Given the description of an element on the screen output the (x, y) to click on. 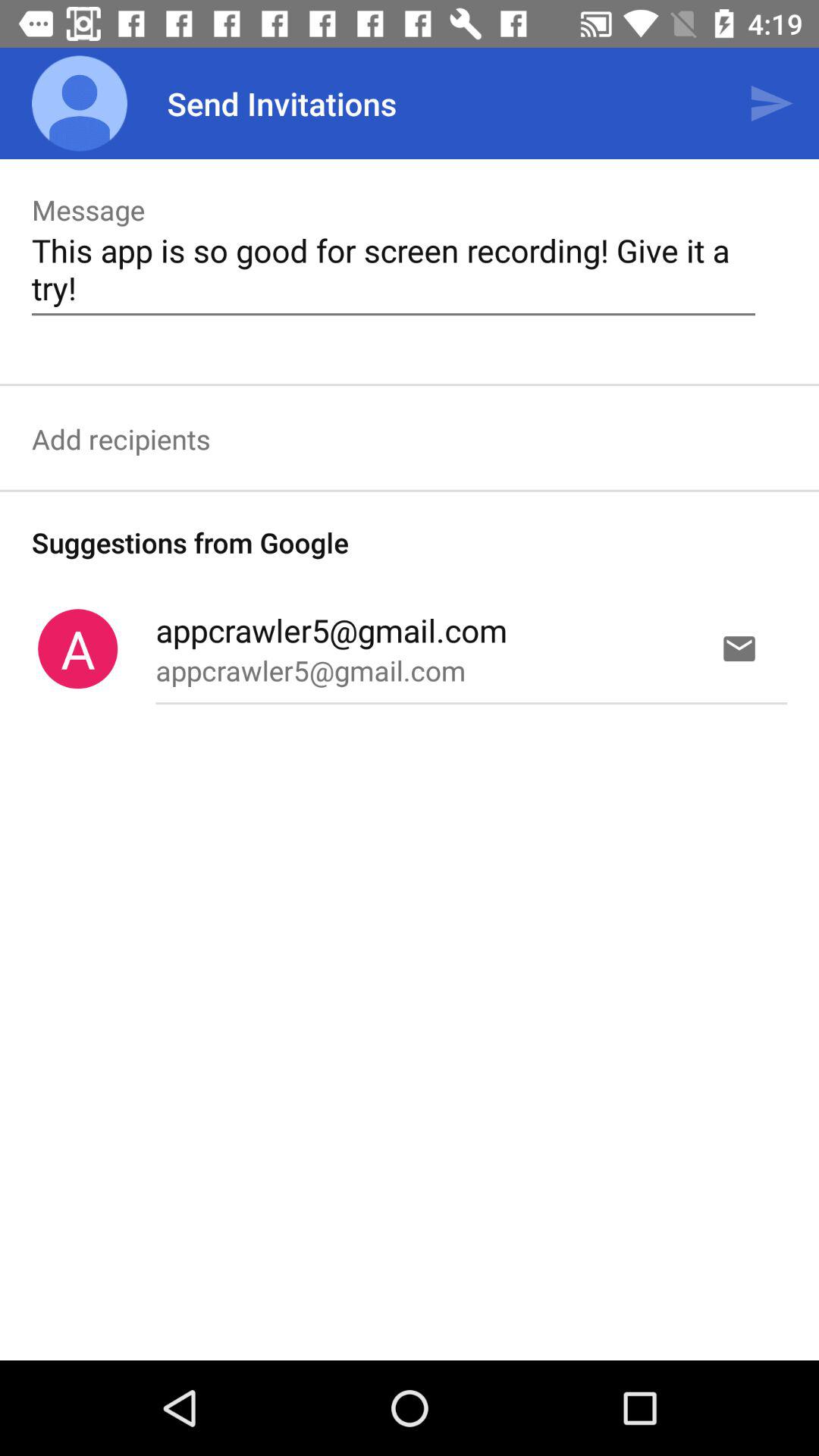
select the app to the left of send invitations item (79, 103)
